Given the description of an element on the screen output the (x, y) to click on. 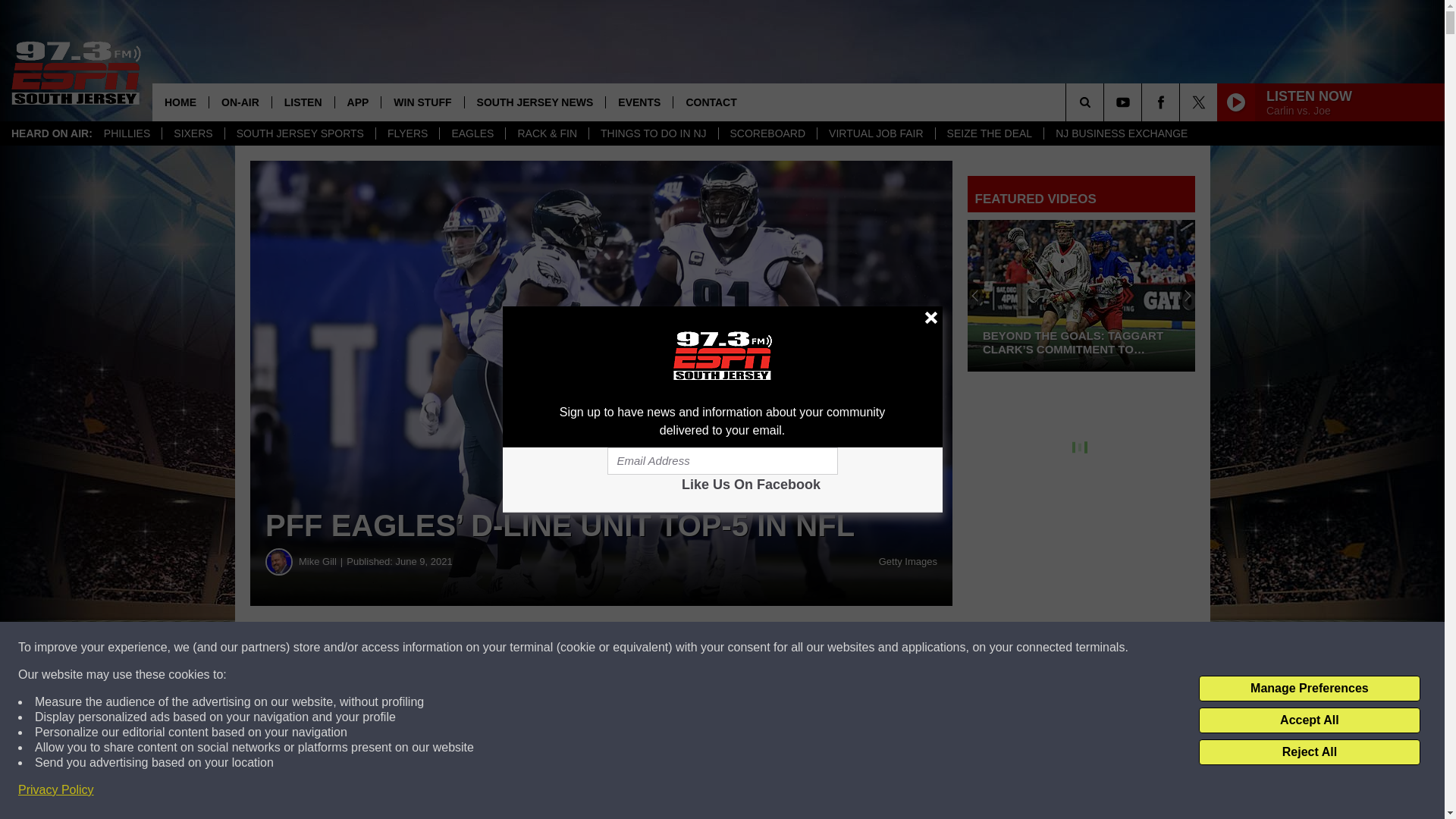
LISTEN (302, 102)
HOME (180, 102)
SEARCH (1106, 102)
EAGLES (472, 133)
APP (357, 102)
THINGS TO DO IN NJ (652, 133)
Reject All (1309, 751)
FLYERS (407, 133)
Email Address (722, 461)
NJ BUSINESS EXCHANGE (1120, 133)
Share on Twitter (741, 647)
SIXERS (192, 133)
VIRTUAL JOB FAIR (875, 133)
SEARCH (1106, 102)
Accept All (1309, 720)
